Given the description of an element on the screen output the (x, y) to click on. 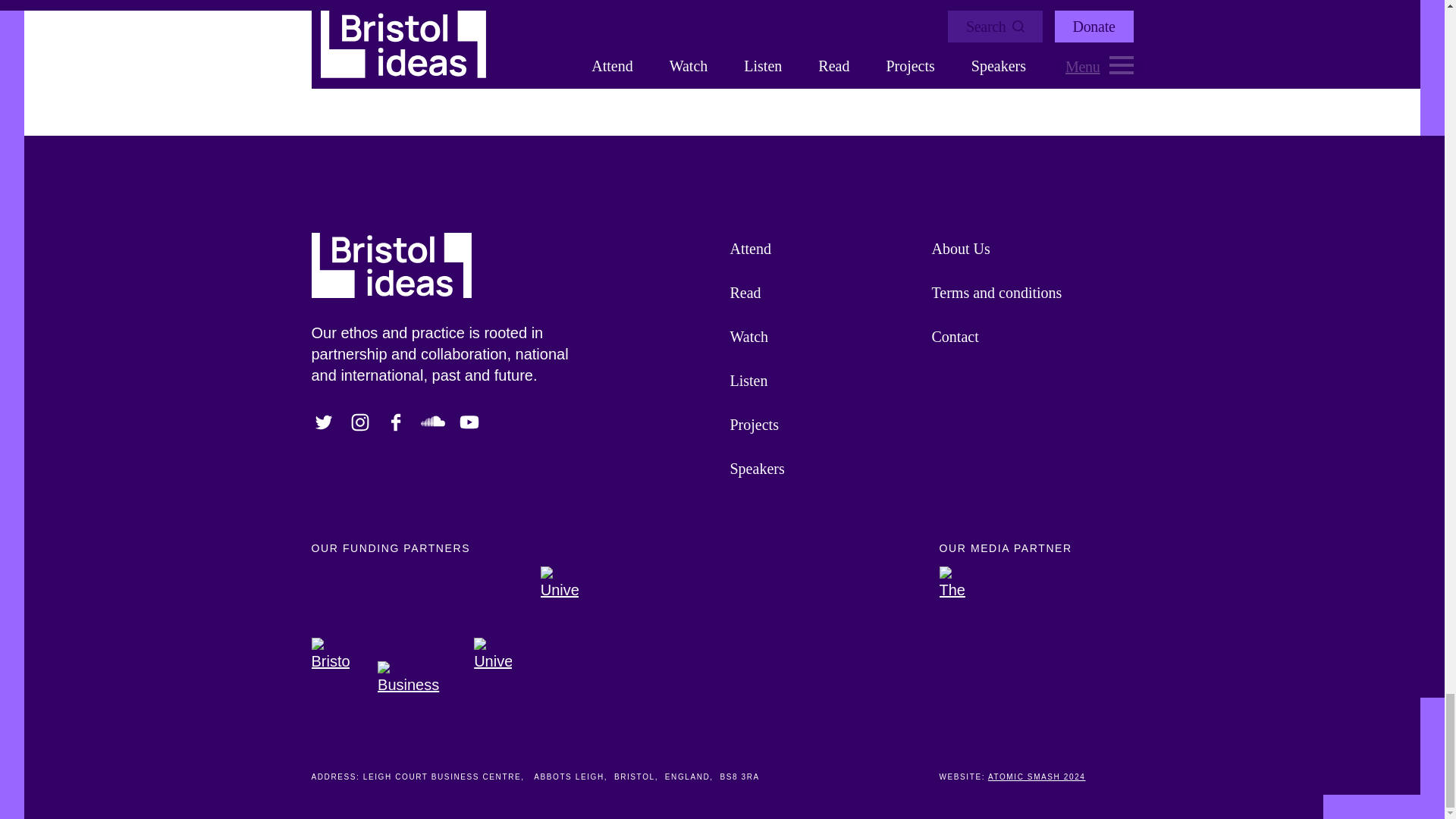
Contact (1024, 336)
Speakers (822, 468)
Terms and conditions (1024, 292)
Watch (822, 336)
Attend (822, 248)
Read (822, 292)
Listen (822, 380)
Projects (822, 424)
About Us (1024, 248)
